Given the description of an element on the screen output the (x, y) to click on. 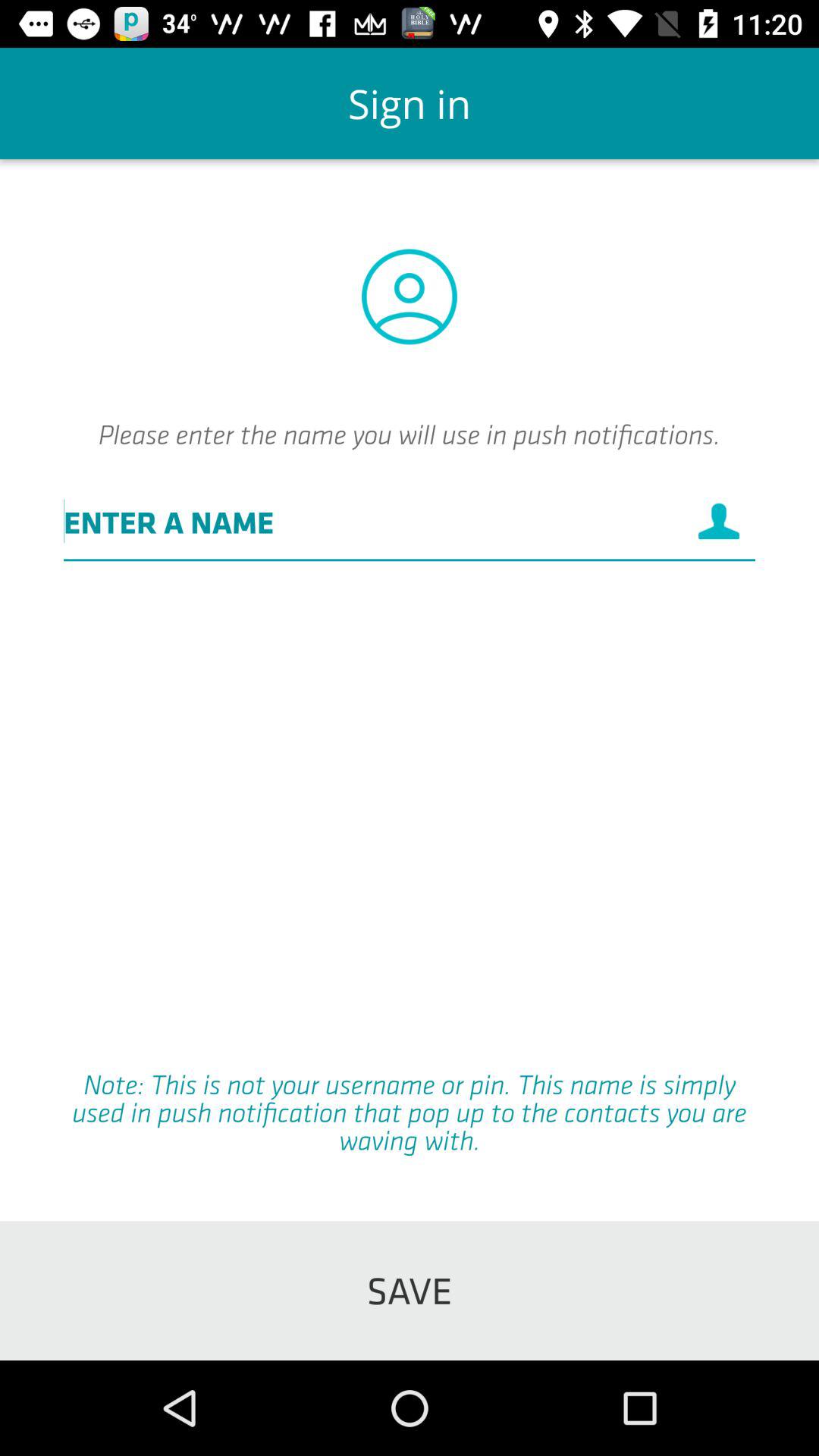
turn off the icon below the please enter the icon (409, 521)
